Given the description of an element on the screen output the (x, y) to click on. 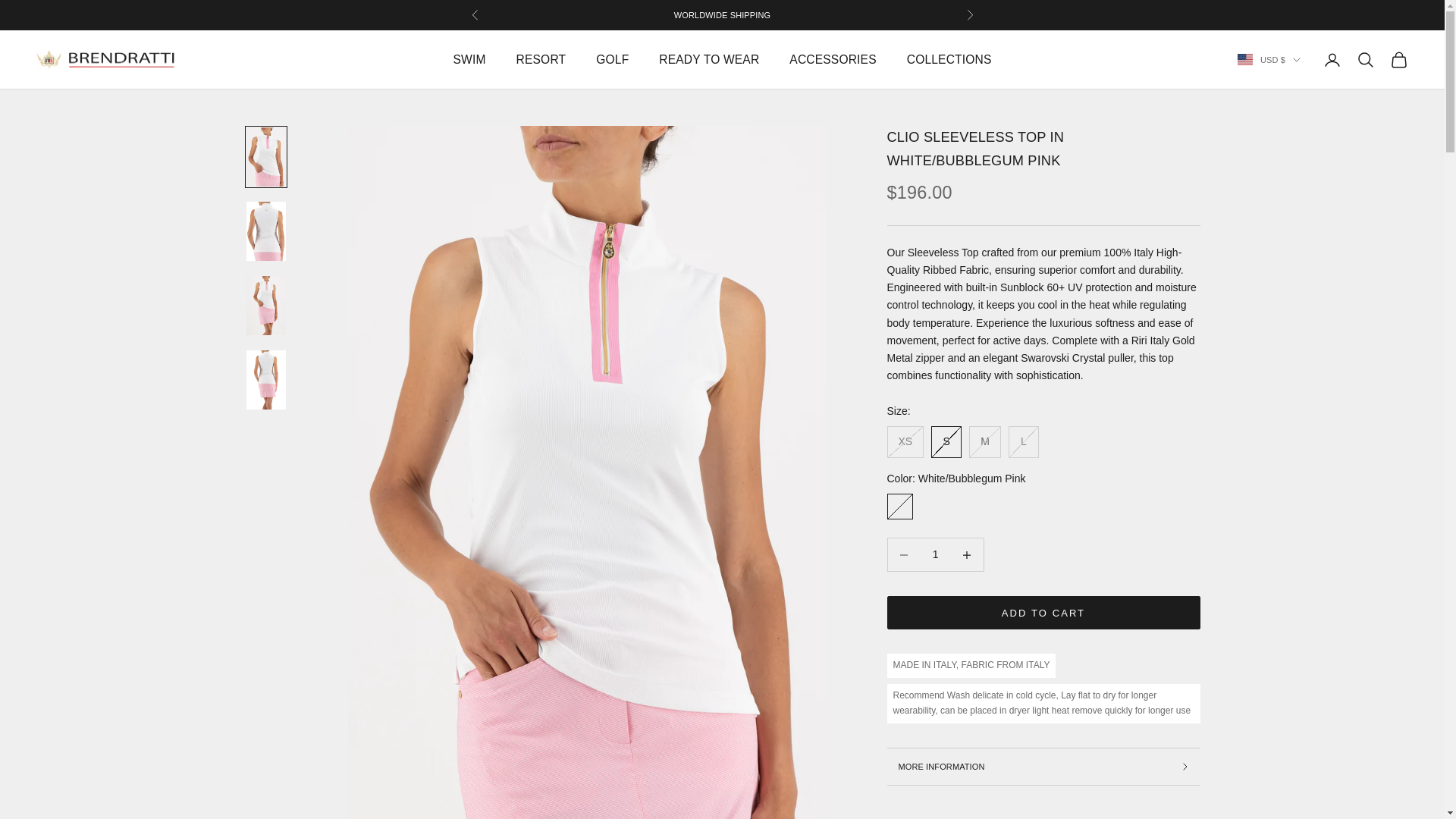
1 (935, 554)
Brendratti (106, 59)
